Given the description of an element on the screen output the (x, y) to click on. 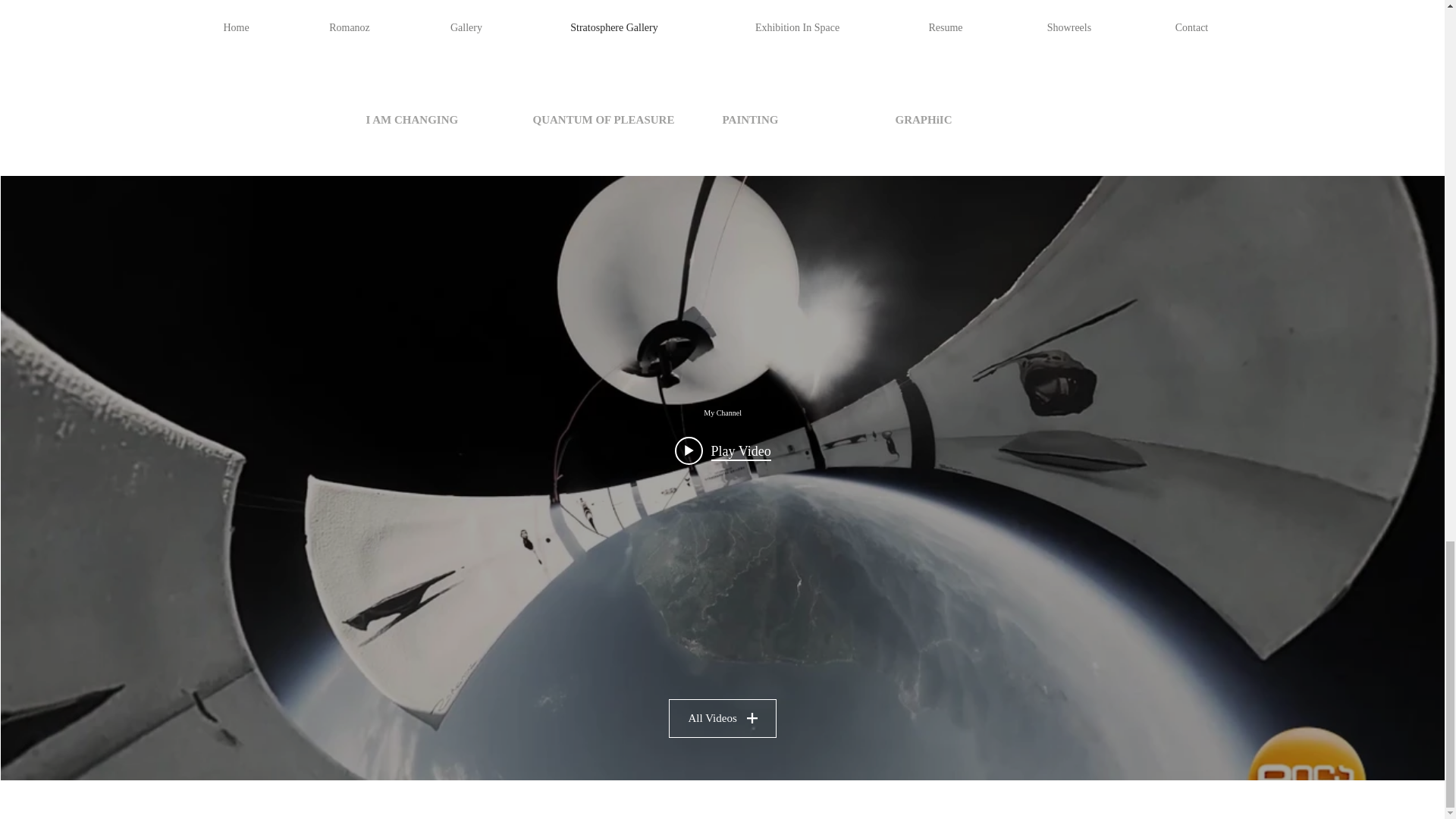
My Channel (722, 412)
